Given the description of an element on the screen output the (x, y) to click on. 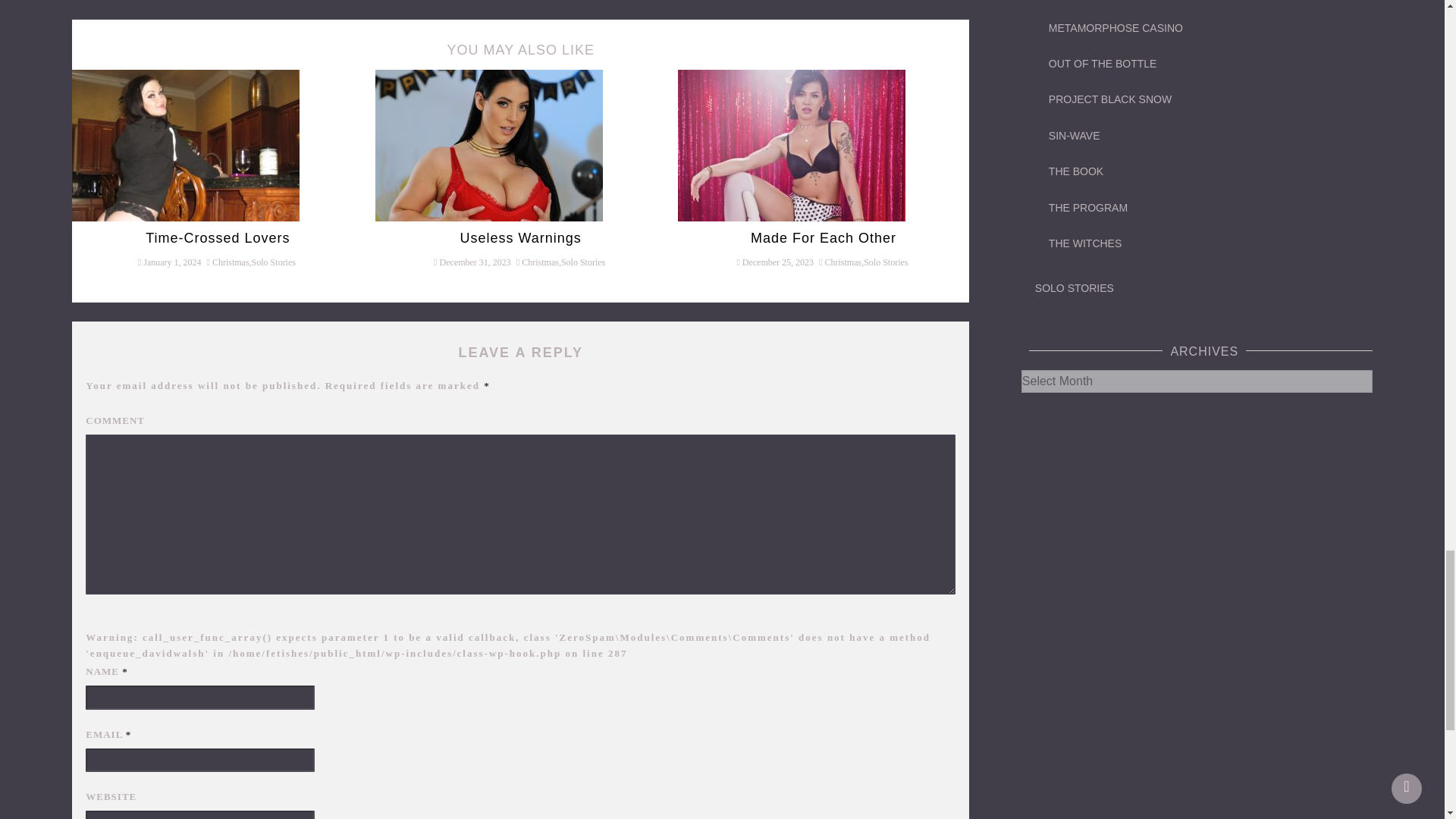
Time-Crossed Lovers (185, 144)
Made For Each Other (791, 144)
Solo Stories (273, 262)
Useless Warnings (488, 144)
Christmas (230, 262)
